Given the description of an element on the screen output the (x, y) to click on. 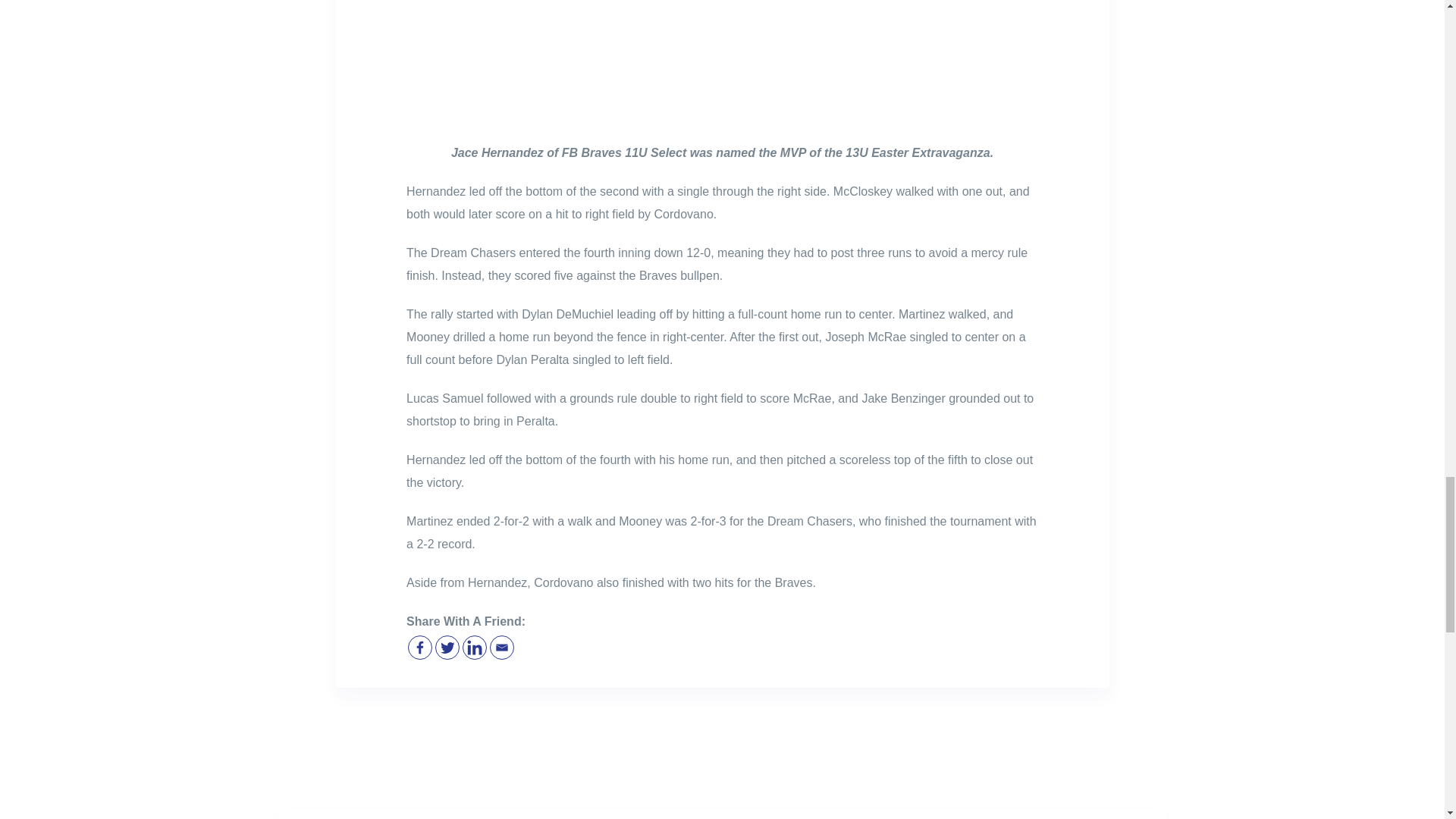
Facebook (419, 647)
Email (501, 647)
Linkedin (474, 647)
Twitter (447, 647)
